Given the description of an element on the screen output the (x, y) to click on. 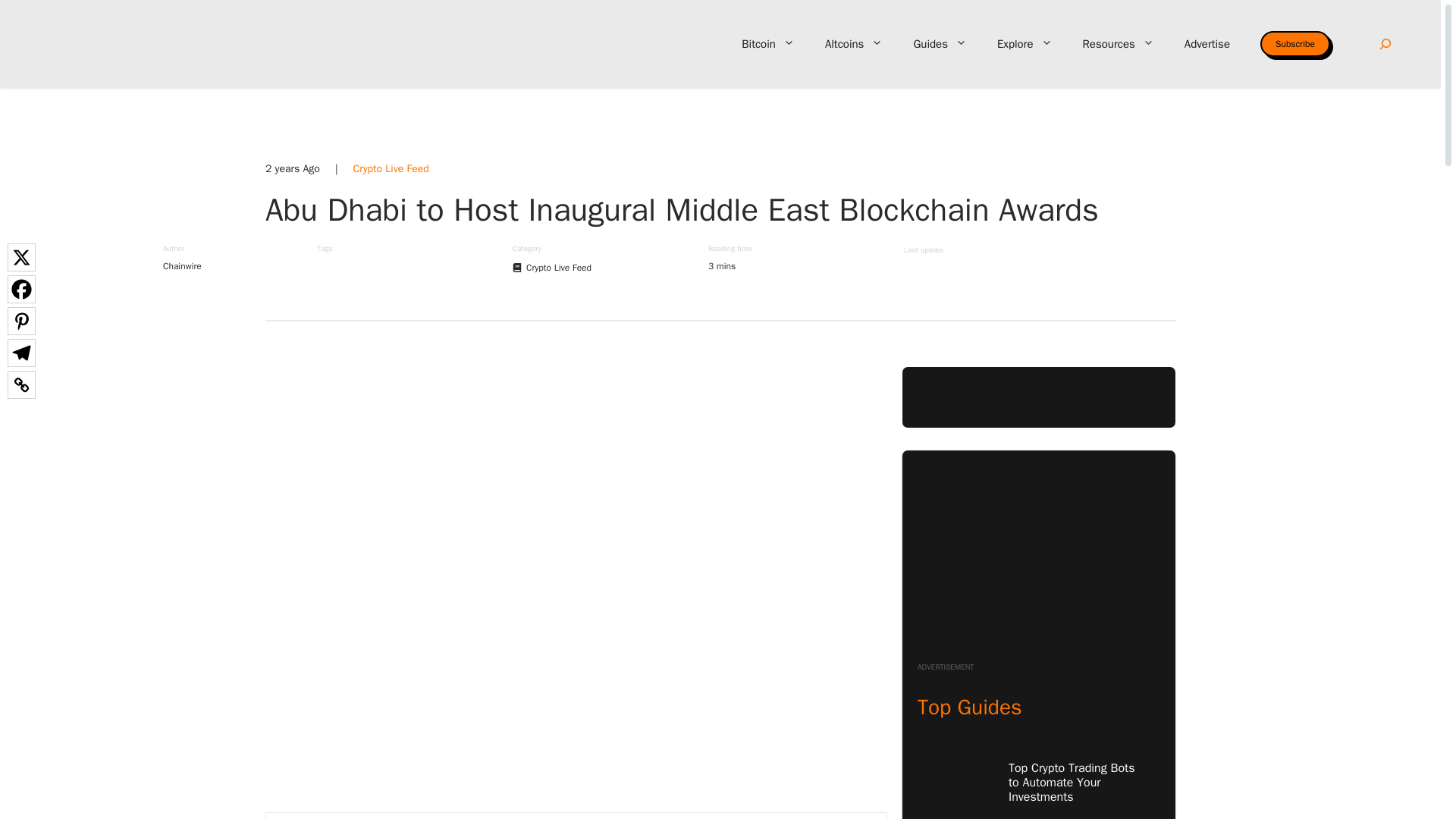
X (20, 257)
Bitcoin (767, 43)
Explore (1024, 43)
Guides (939, 43)
Altcoins (853, 43)
